Given the description of an element on the screen output the (x, y) to click on. 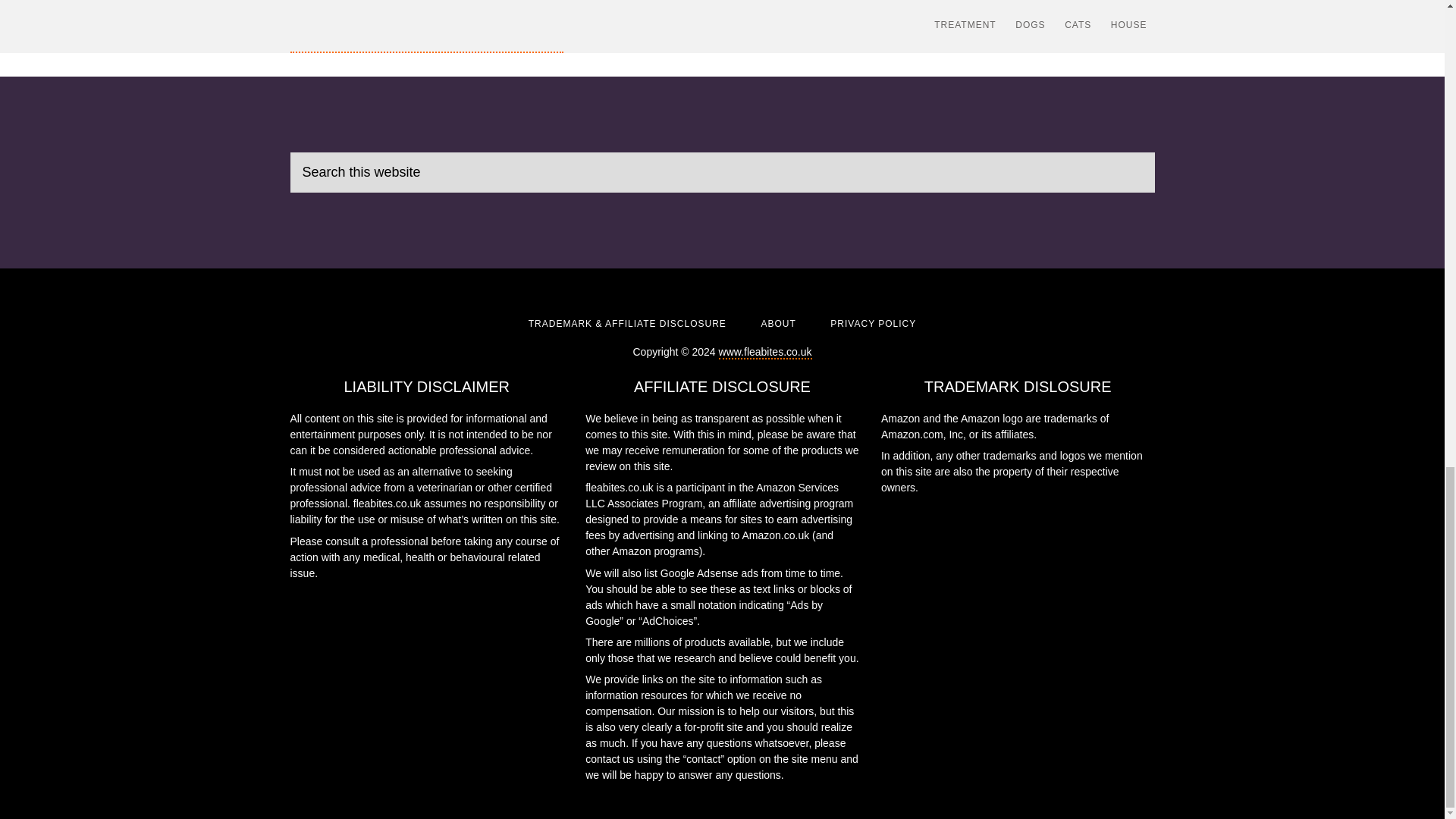
PRIVACY POLICY (872, 323)
AFFILIATE DISCLOSURE (721, 386)
www.fleabites.co.uk (765, 352)
ABOUT (777, 323)
